Given the description of an element on the screen output the (x, y) to click on. 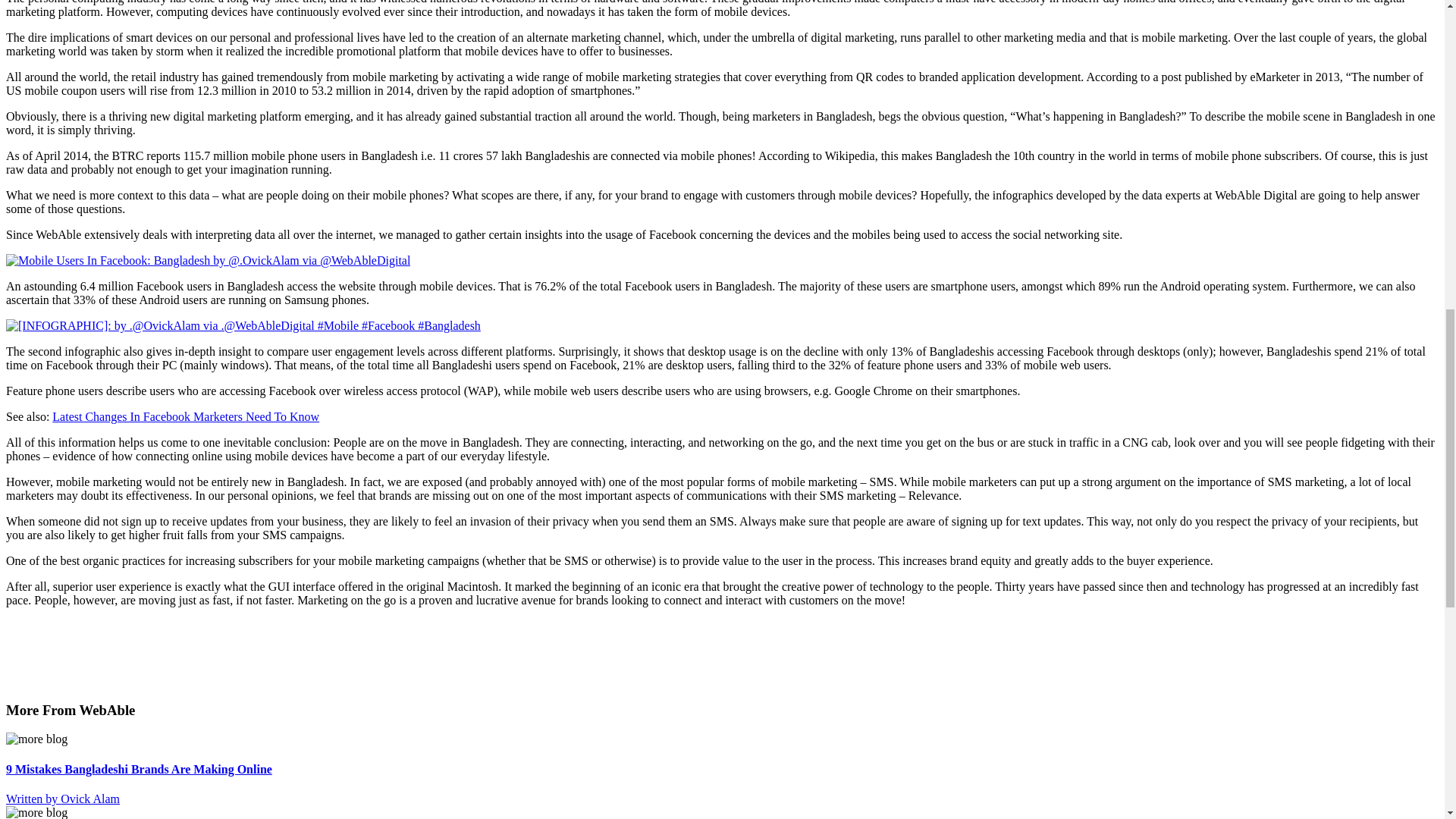
Latest Changes In Facebook Marketers Need To Know (185, 416)
